Given the description of an element on the screen output the (x, y) to click on. 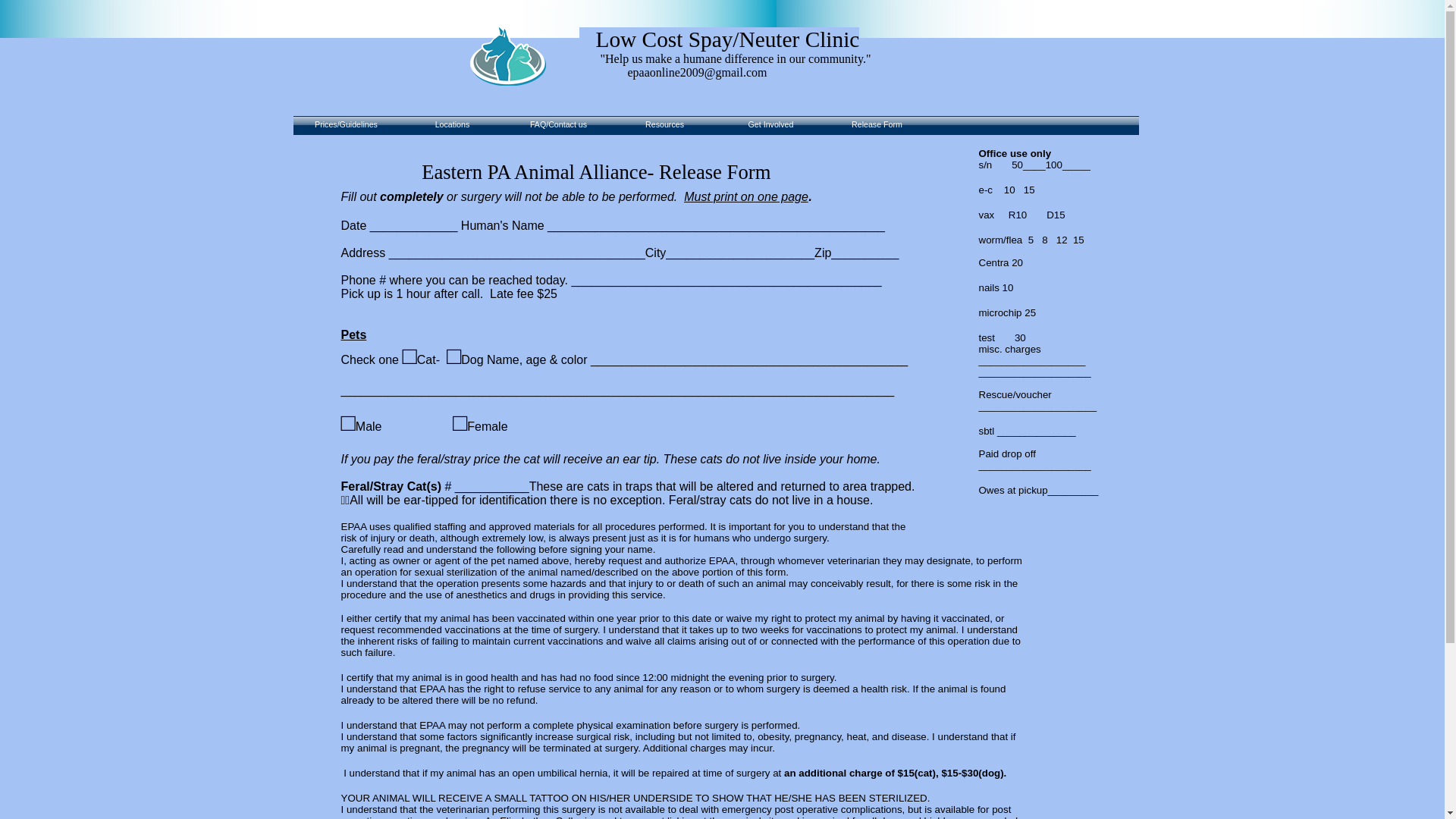
Release Form (877, 127)
Get Involved (770, 127)
Locations (451, 127)
Resources (664, 127)
